Given the description of an element on the screen output the (x, y) to click on. 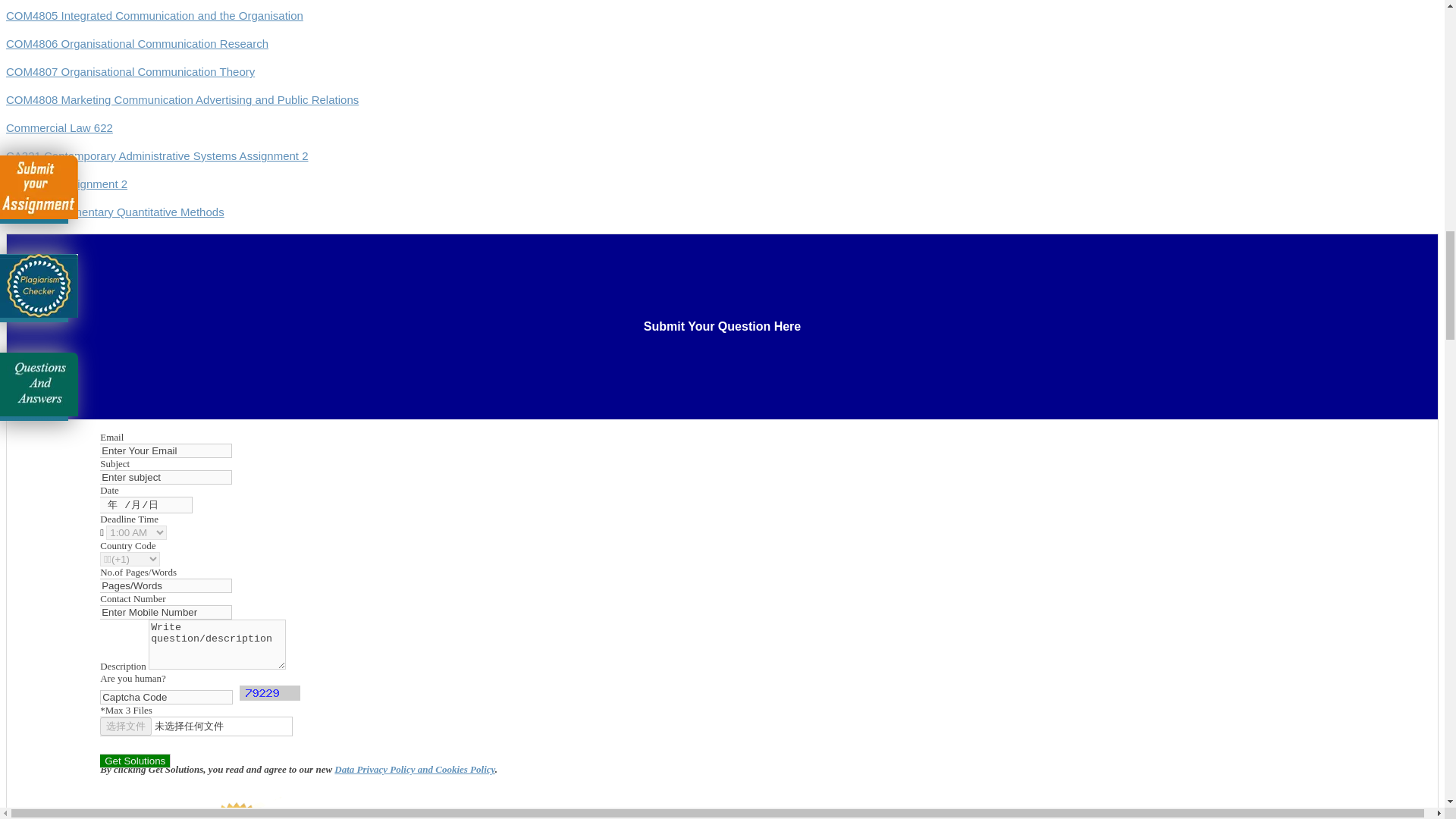
Data Privacy Policy and Cookies Policy (414, 768)
CA321 Contemporary Administrative Systems Assignment 2 (156, 155)
SPHY000 Assignment 2 (66, 183)
COM4805 Integrated Communication and the Organisation (153, 15)
COM4805 Integrated Communication and the Organisation (153, 15)
Commercial Law 622 (59, 127)
COM4807 Organisational Communication Theory (129, 71)
COM4806 Organisational Communication Research (136, 42)
Get Solutions (135, 760)
Get Solutions (135, 760)
COM4806 Organisational Communication Research (136, 42)
QMI1500 Elementary Quantitative Methods (114, 211)
